Given the description of an element on the screen output the (x, y) to click on. 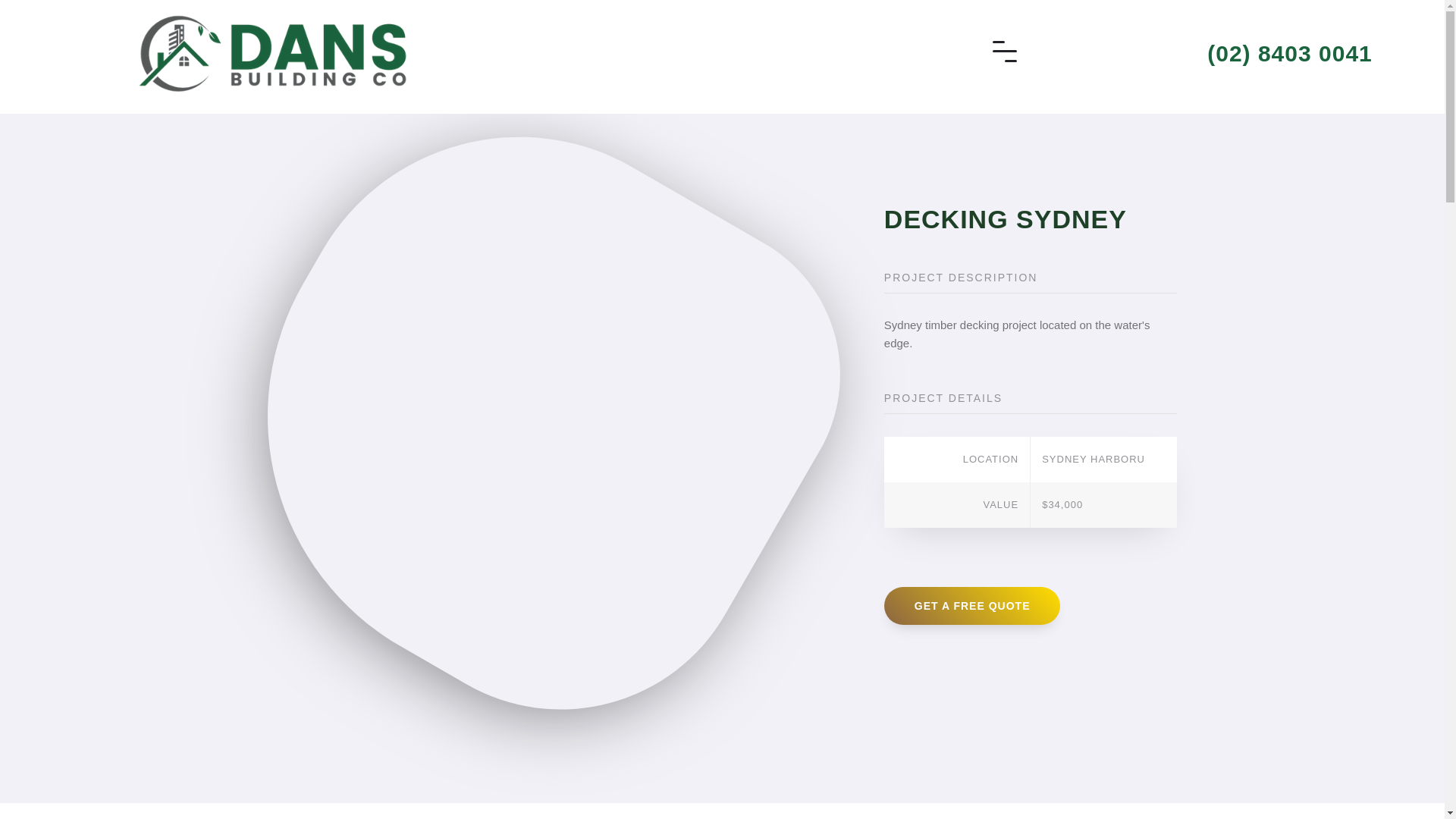
GET A FREE QUOTE Element type: text (972, 605)
